Given the description of an element on the screen output the (x, y) to click on. 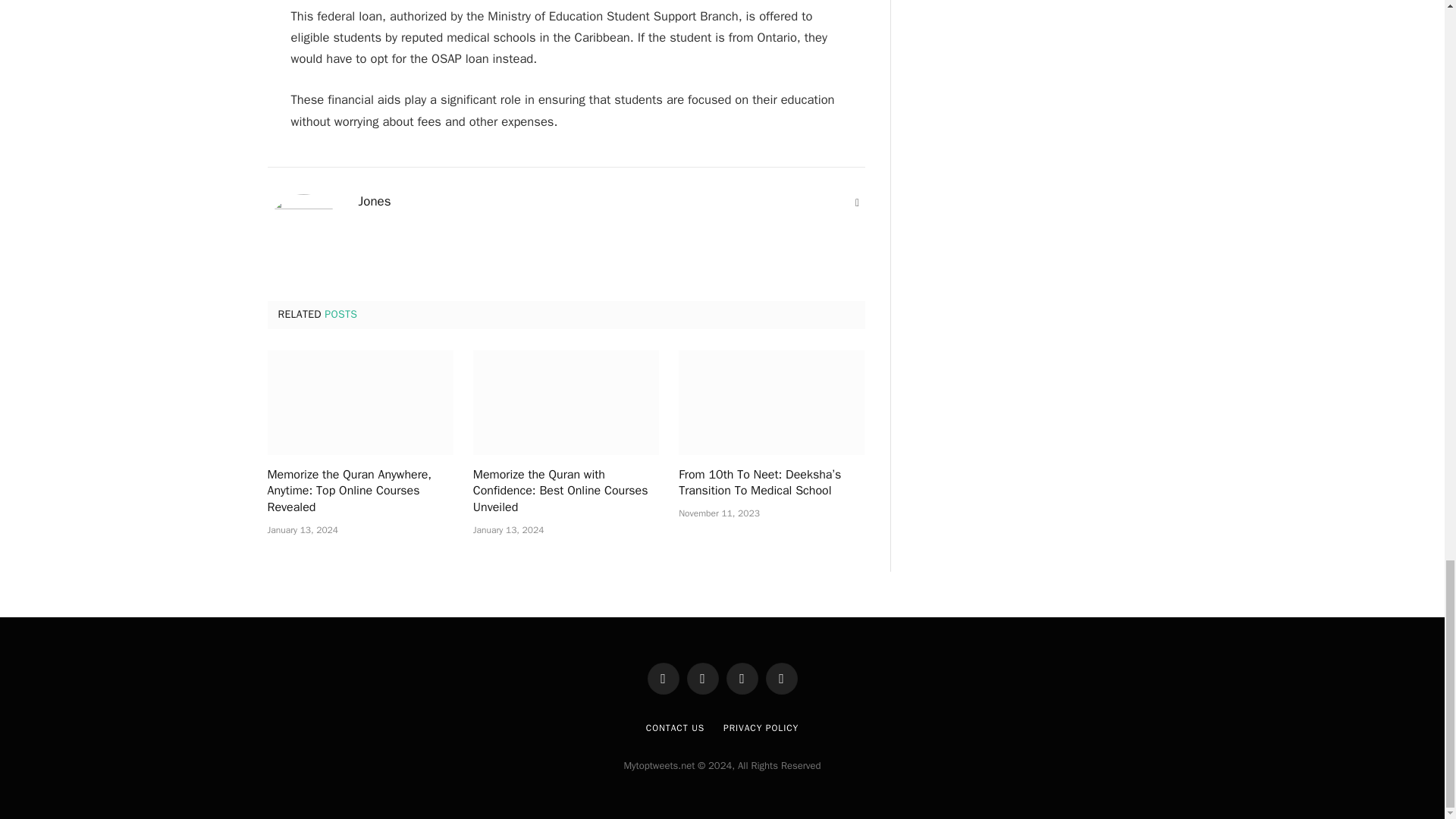
Posts by Jones (374, 201)
Jones (374, 201)
Website (856, 202)
Website (856, 202)
